Given the description of an element on the screen output the (x, y) to click on. 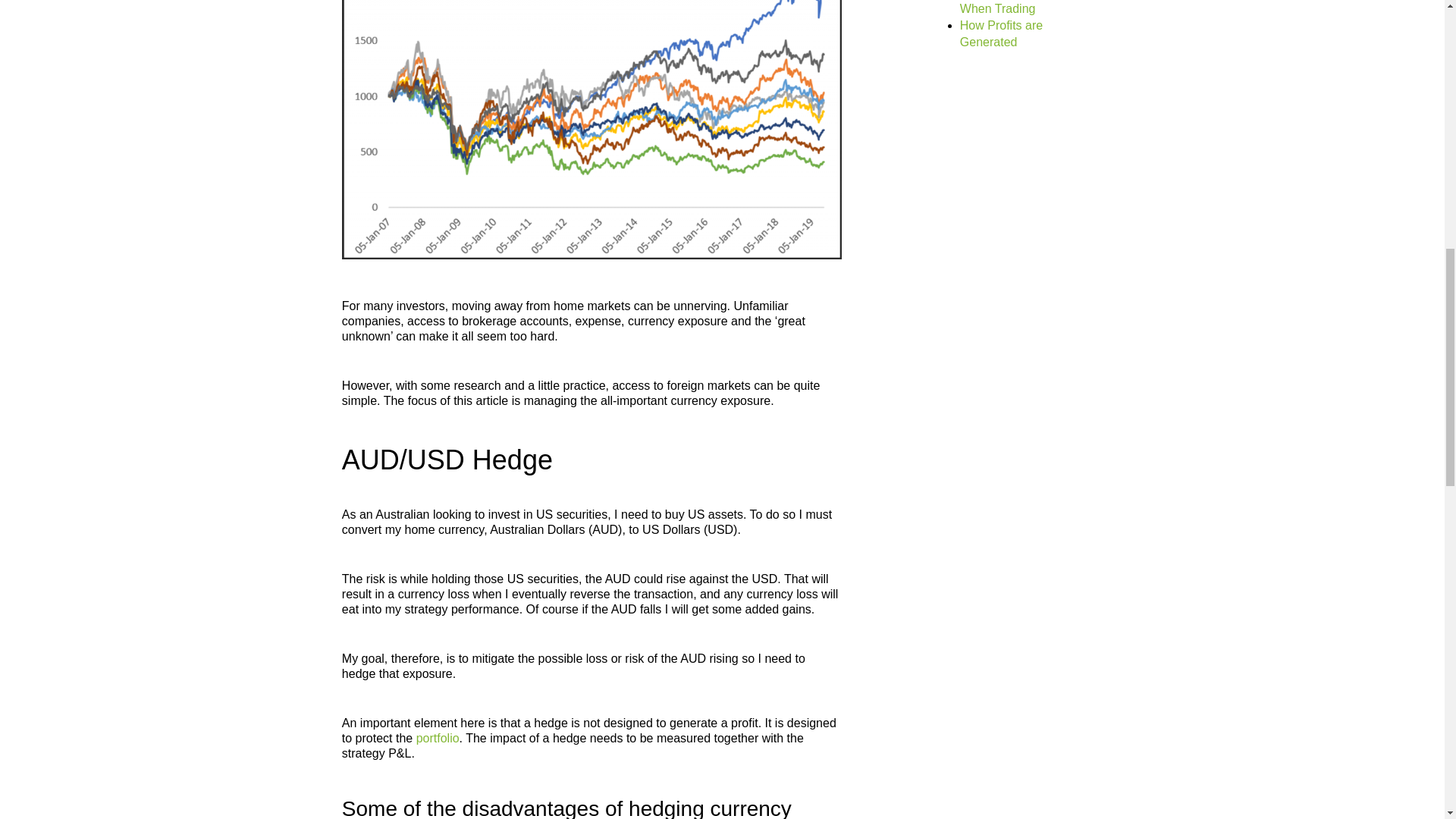
portfolio (438, 738)
How Profits are Generated (1000, 33)
Play a Good Defense When Trading (1017, 7)
